Given the description of an element on the screen output the (x, y) to click on. 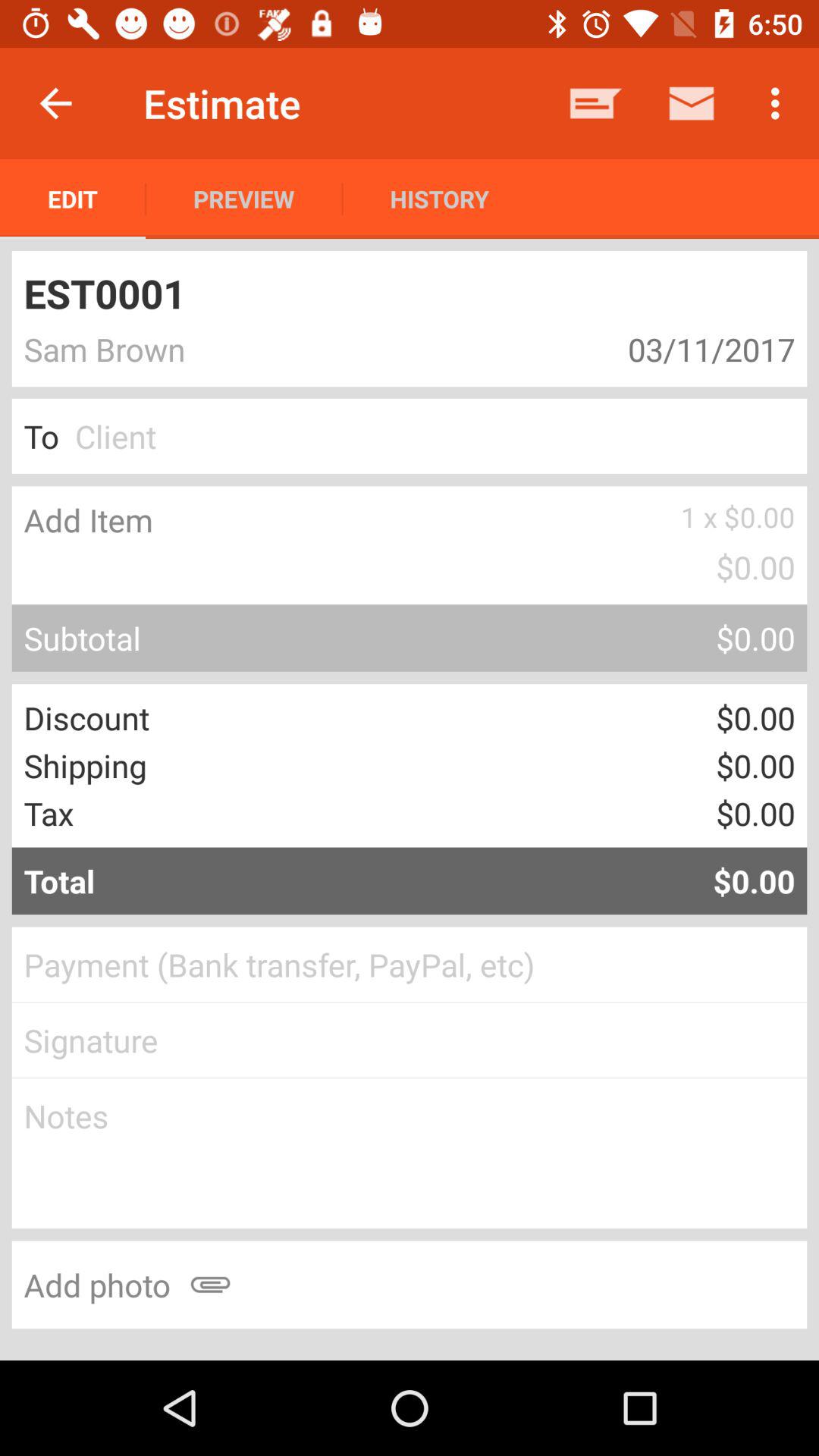
swipe until the preview app (243, 198)
